Given the description of an element on the screen output the (x, y) to click on. 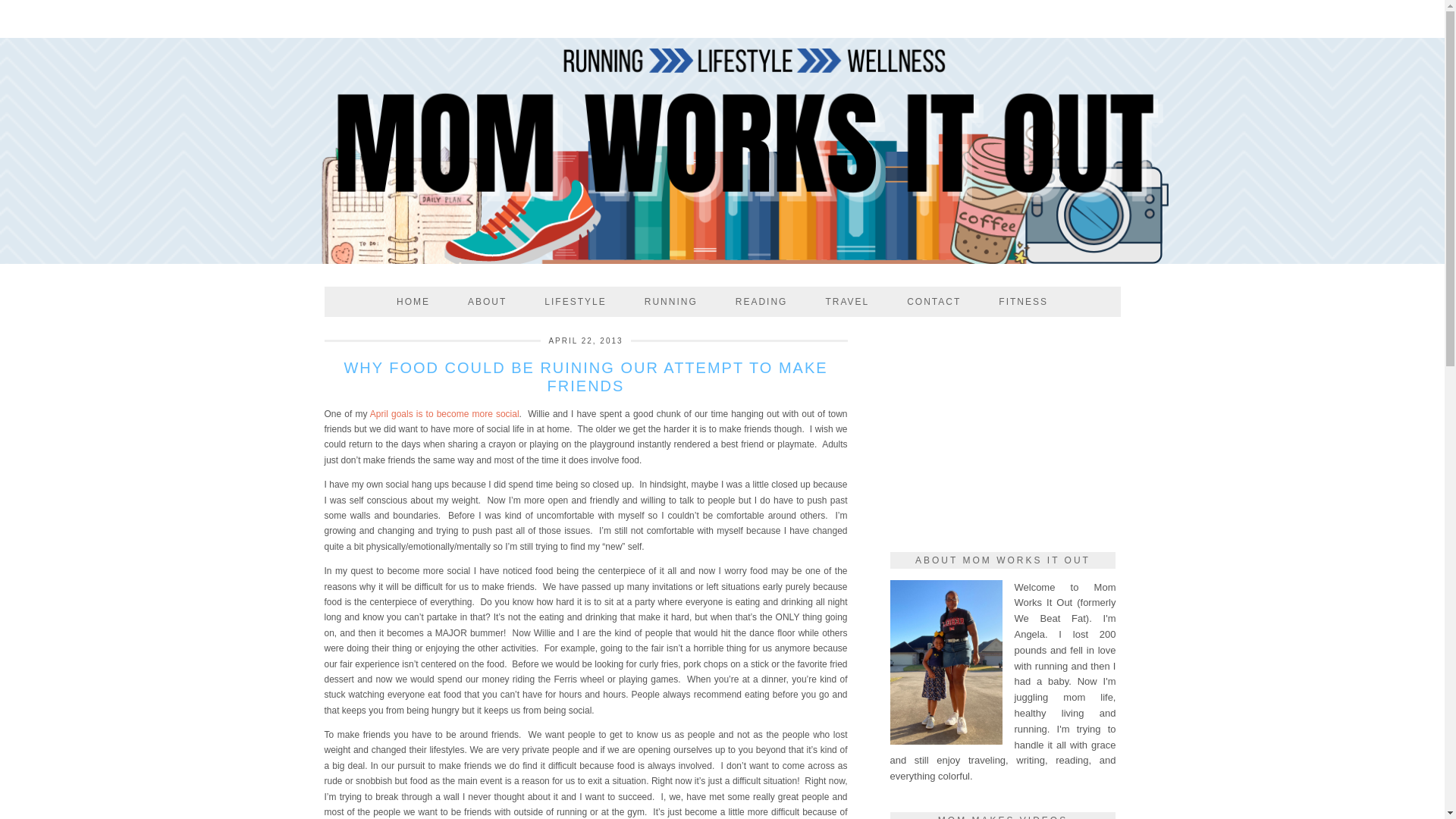
LIFESTYLE (574, 301)
FITNESS (1023, 301)
READING (761, 301)
ABOUT (486, 301)
HOME (412, 301)
April goals is to become more social (444, 413)
CONTACT (933, 301)
RUNNING (671, 301)
TRAVEL (847, 301)
